Given the description of an element on the screen output the (x, y) to click on. 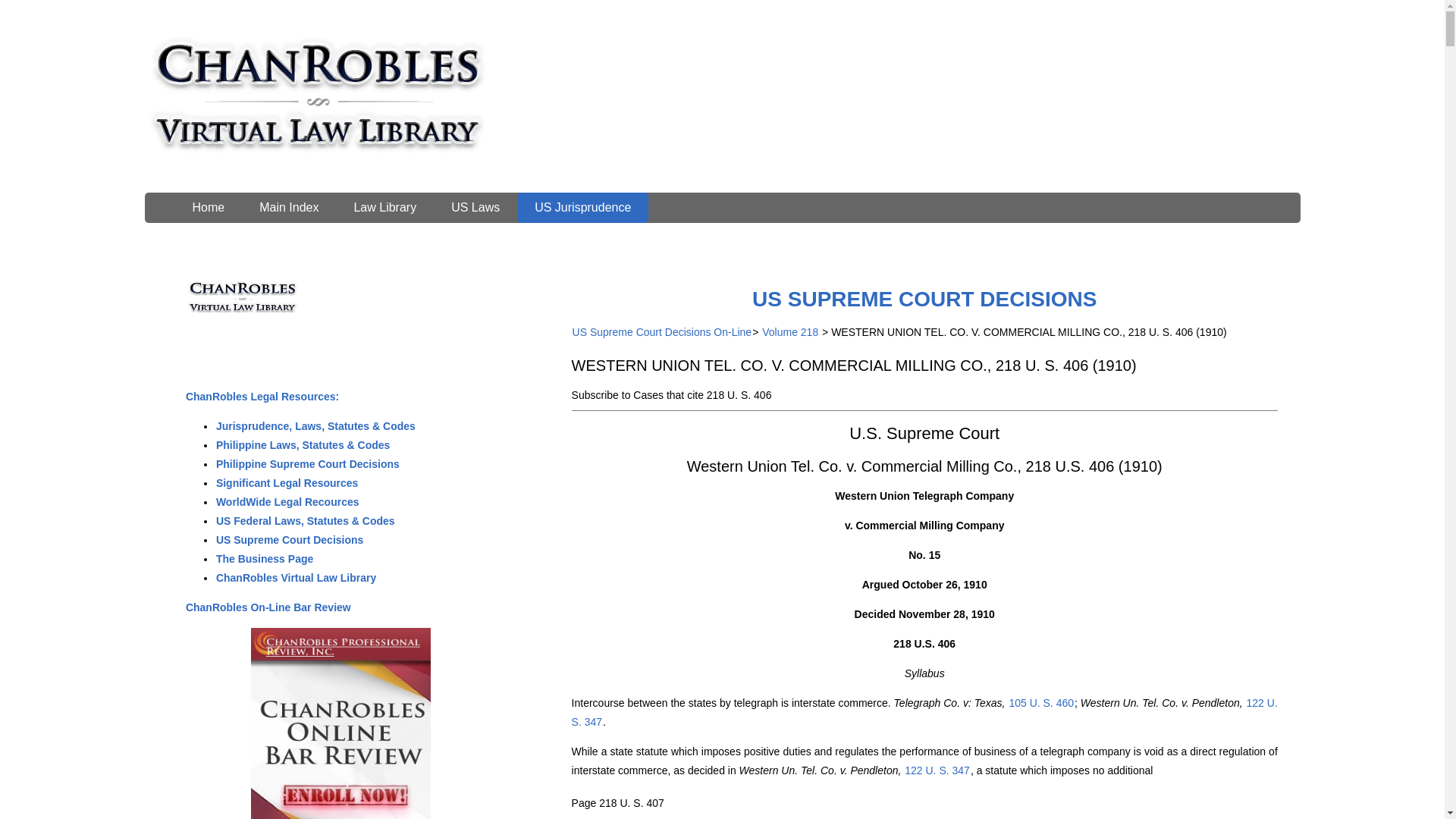
Home (207, 207)
Law Library (384, 207)
ChanRobles On-Line Bar Review (268, 607)
US Laws (474, 207)
122 U. S. 347 (937, 770)
US Supreme Court Decisions (290, 539)
105 U. S. 460 (1040, 702)
Main Index (288, 207)
US Jurisprudence (581, 207)
The Business Page (264, 558)
